Given the description of an element on the screen output the (x, y) to click on. 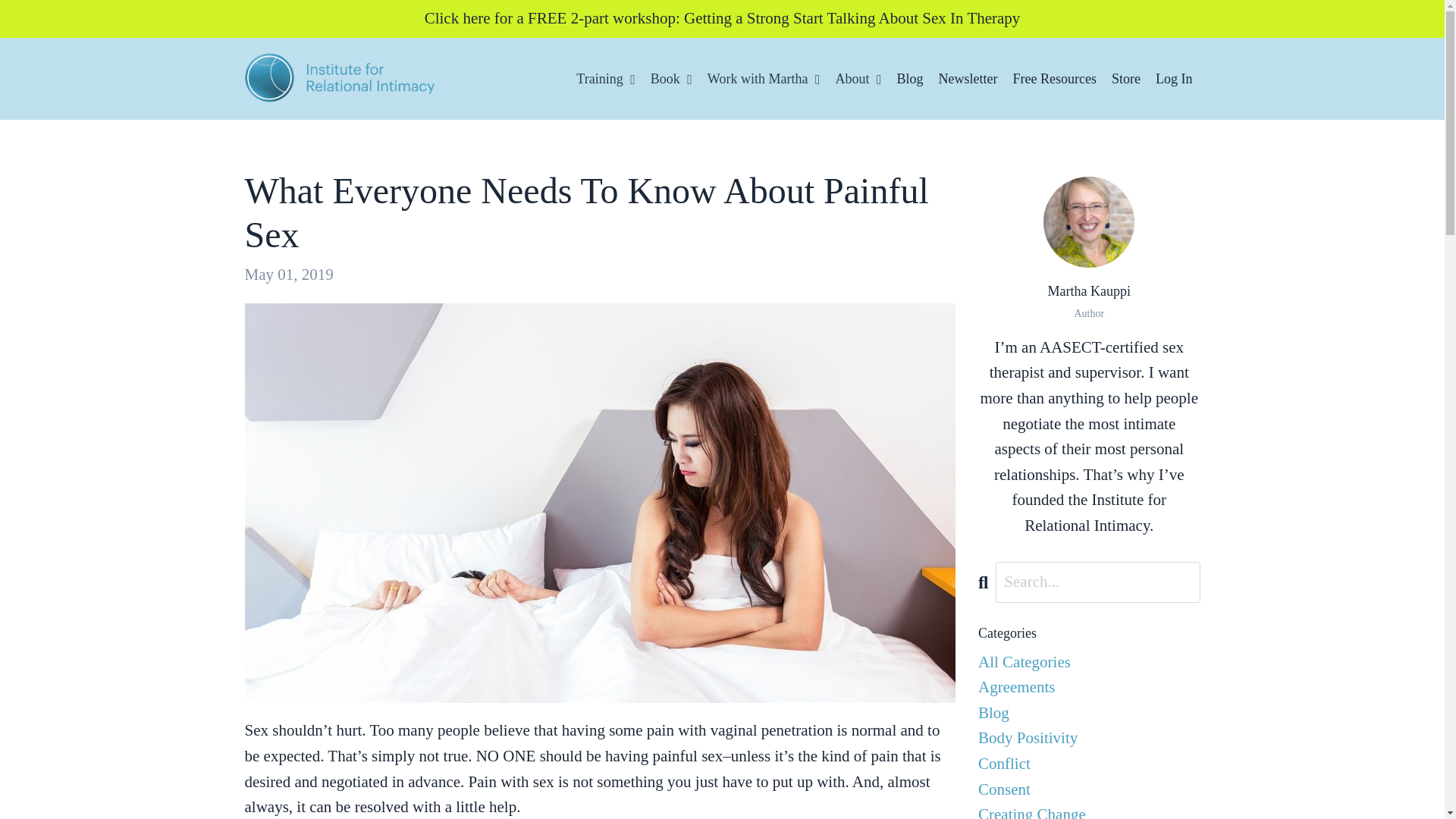
Conflict (1088, 764)
Store (1126, 78)
Consent (1088, 790)
Log In (1174, 78)
Book (671, 78)
Blog (1088, 713)
Newsletter (968, 78)
All Categories (1088, 662)
Creating Change (1088, 810)
Work with Martha (764, 78)
